Given the description of an element on the screen output the (x, y) to click on. 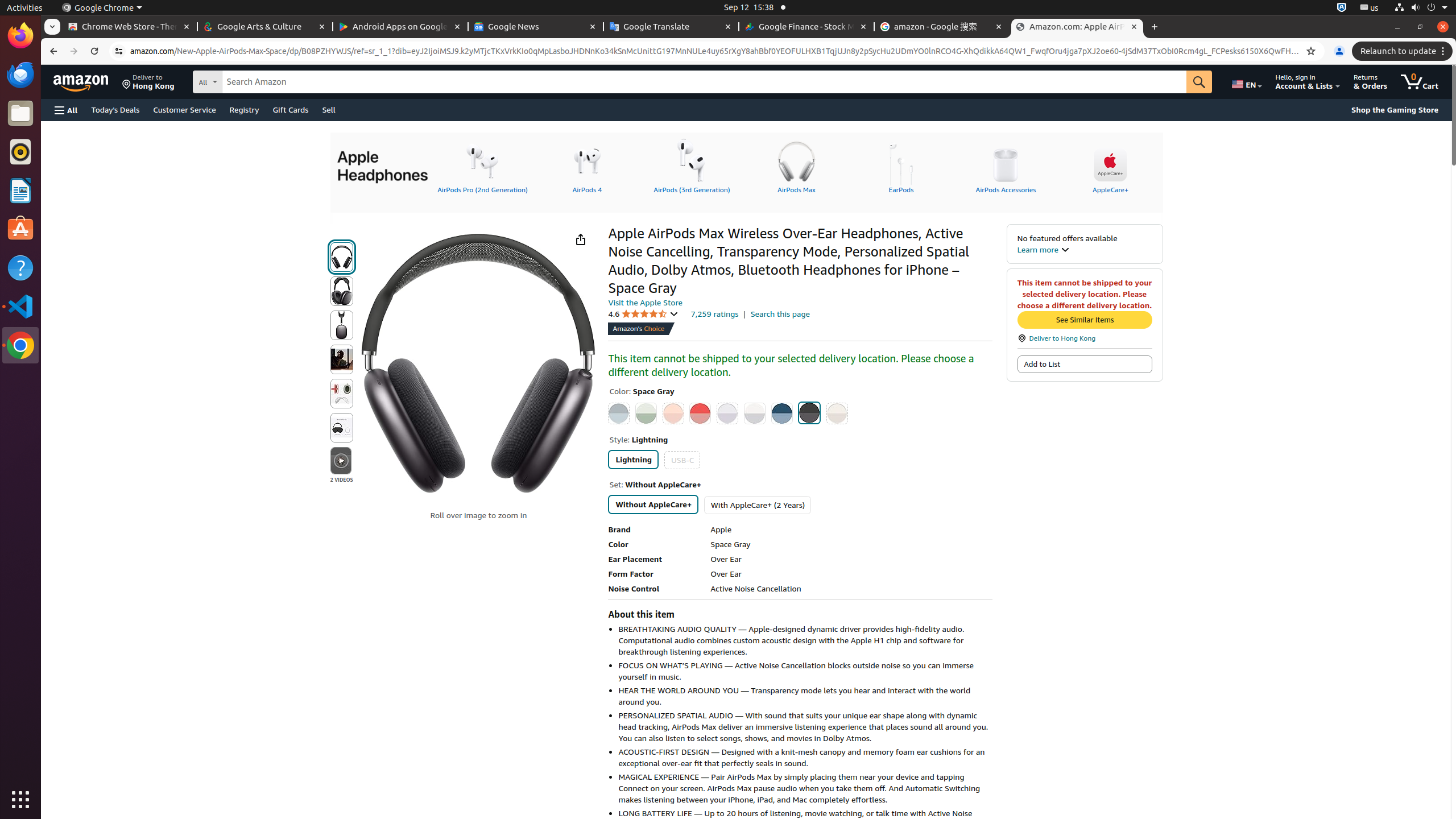
Customer Service Element type: link (184, 109)
Reload Element type: push-button (94, 50)
Sell Element type: link (328, 109)
Google News - Memory usage - 49.2 MB Element type: page-tab (535, 26)
Open Menu Element type: push-button (66, 109)
